Given the description of an element on the screen output the (x, y) to click on. 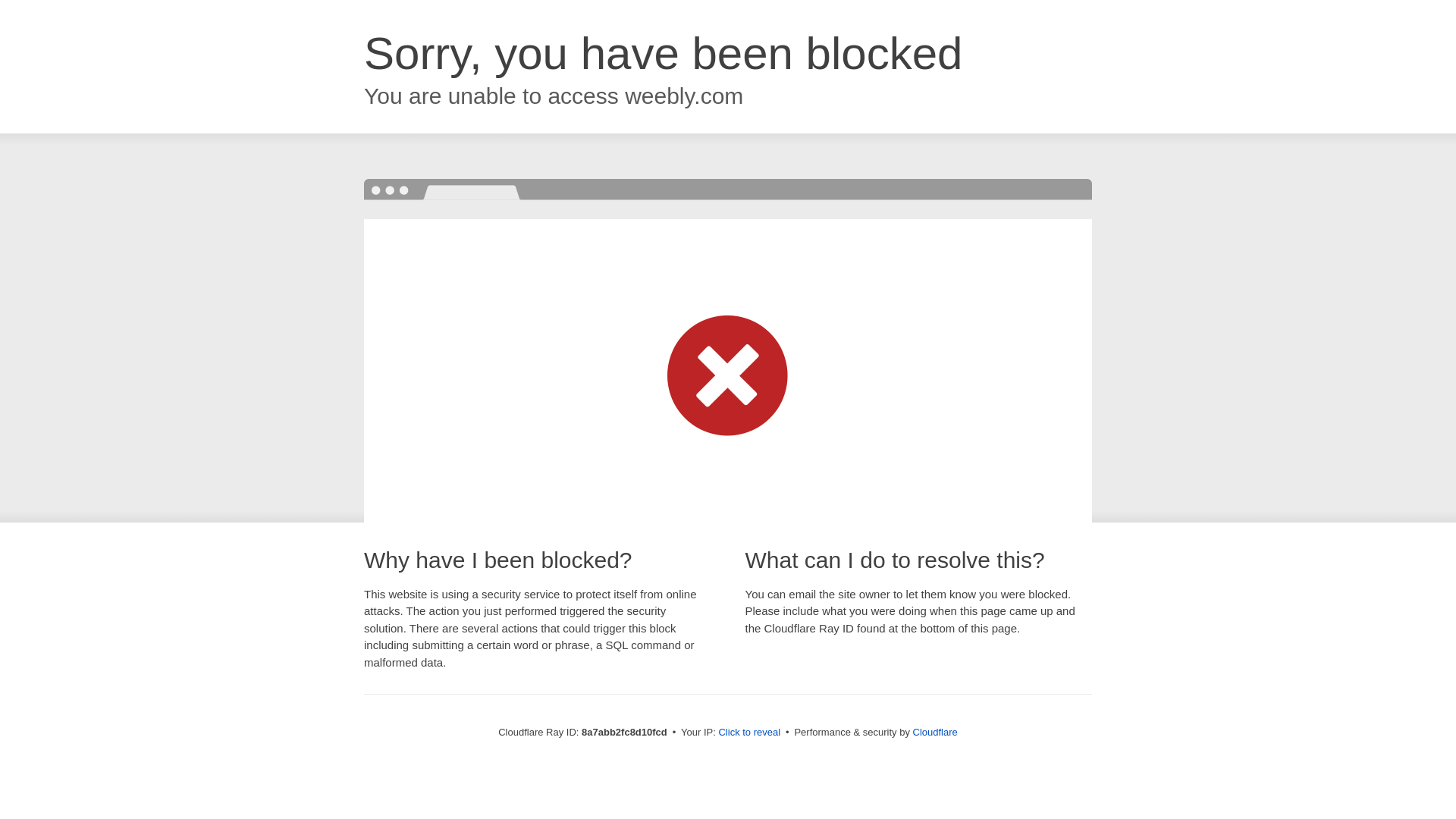
Click to reveal (748, 732)
Cloudflare (935, 731)
